Given the description of an element on the screen output the (x, y) to click on. 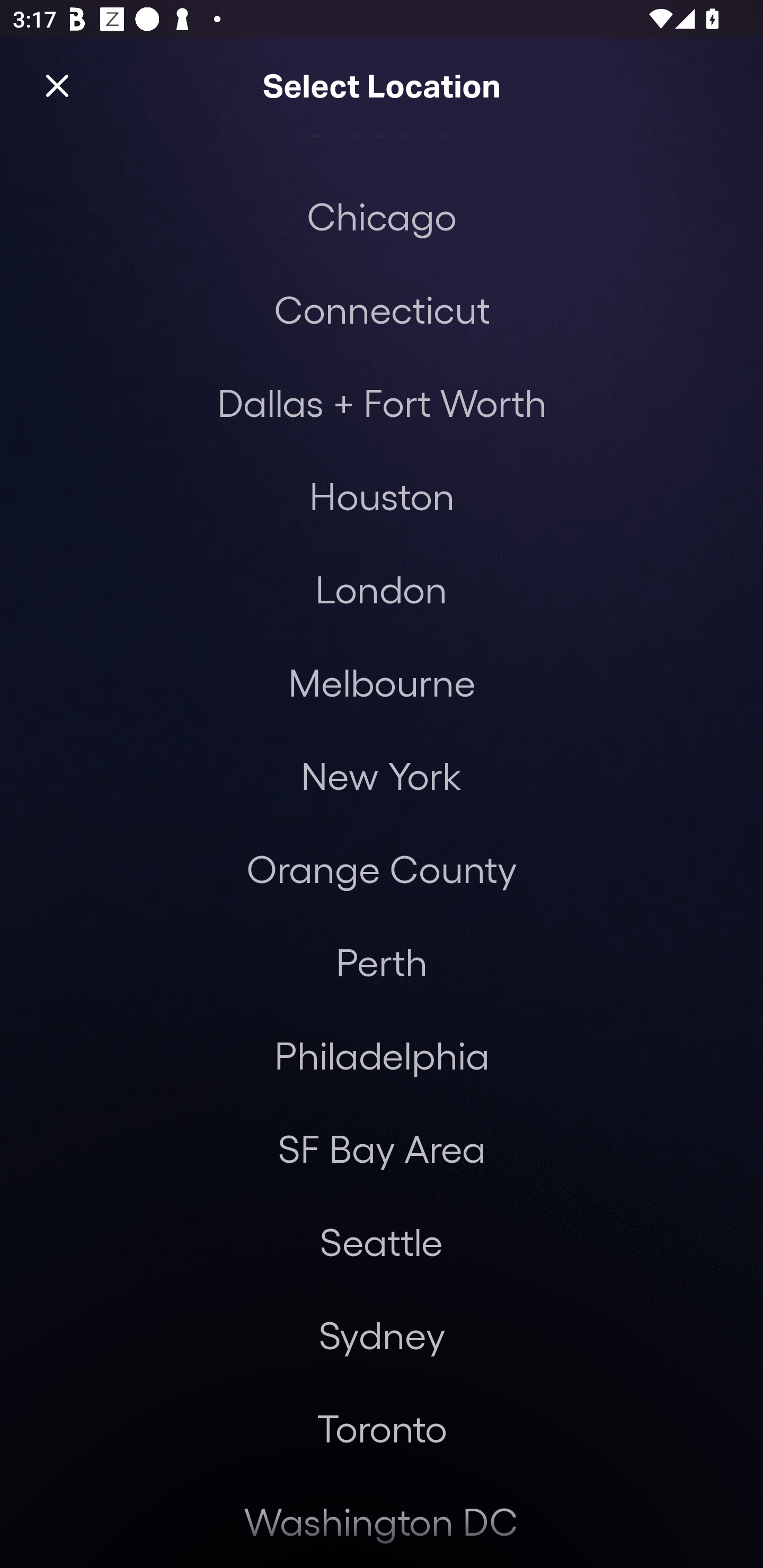
Close (57, 85)
Chicago (381, 216)
Connecticut (381, 309)
Dallas + Fort Worth (381, 401)
Houston (381, 495)
London (380, 588)
Melbourne (381, 682)
New York (380, 775)
Orange County (381, 868)
Perth (381, 961)
Philadelphia (381, 1055)
SF Bay Area (381, 1148)
Seattle (380, 1241)
Sydney (381, 1334)
Toronto (381, 1428)
Washington DC (381, 1521)
